Given the description of an element on the screen output the (x, y) to click on. 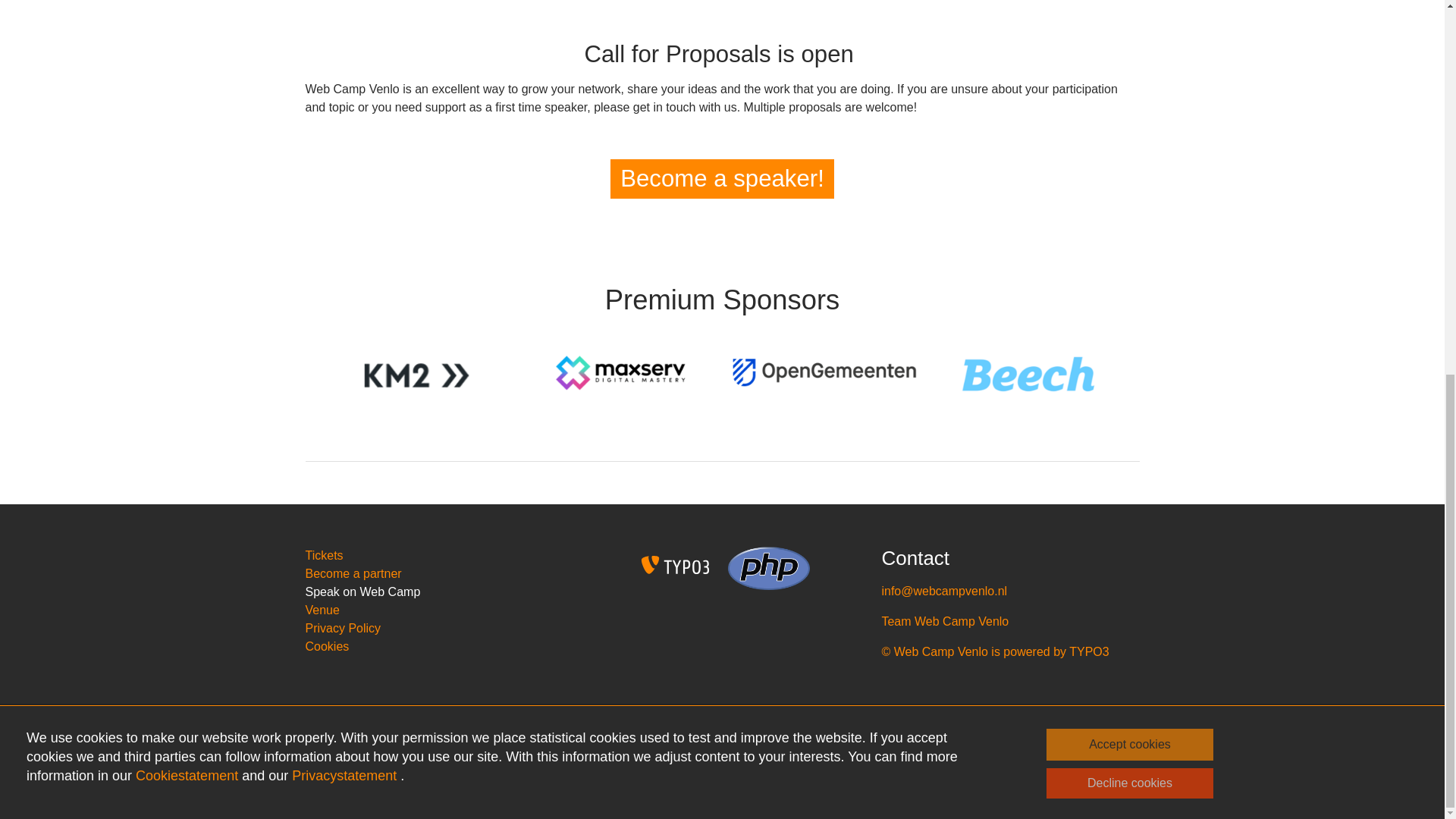
Cookies (326, 645)
Tickets (323, 554)
Team Web Camp Venlo (944, 621)
Become a partner (352, 573)
Privacy Policy (342, 627)
Venue (321, 609)
Become a speaker! (722, 178)
Team Web Camp Venlo (944, 621)
